Given the description of an element on the screen output the (x, y) to click on. 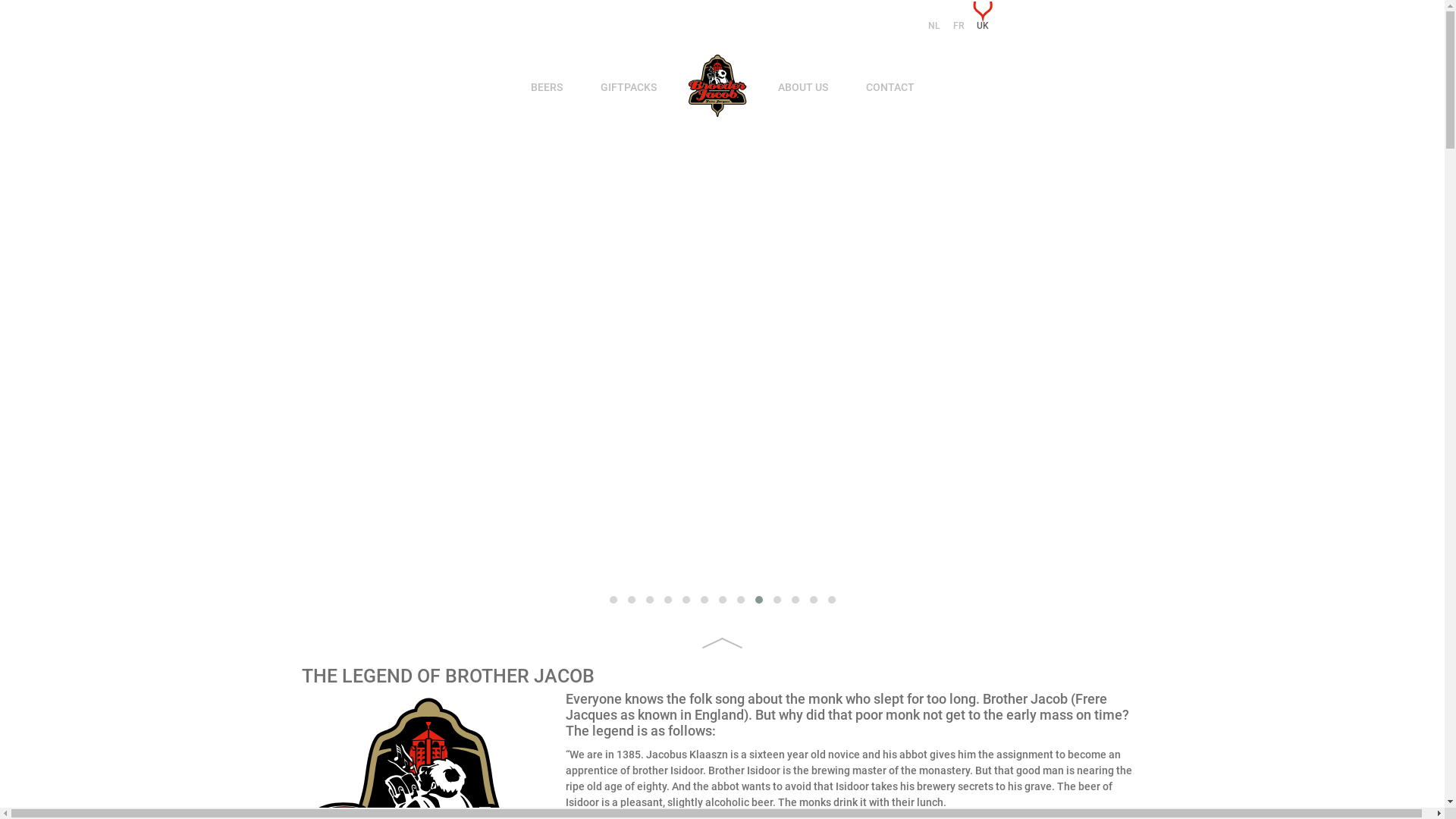
CONTACT Element type: text (890, 87)
FR Element type: text (957, 25)
BEERS Element type: text (546, 87)
UK Element type: text (982, 25)
GIFTPACKS Element type: text (628, 87)
NL Element type: text (934, 25)
ABOUT US Element type: text (802, 87)
